Given the description of an element on the screen output the (x, y) to click on. 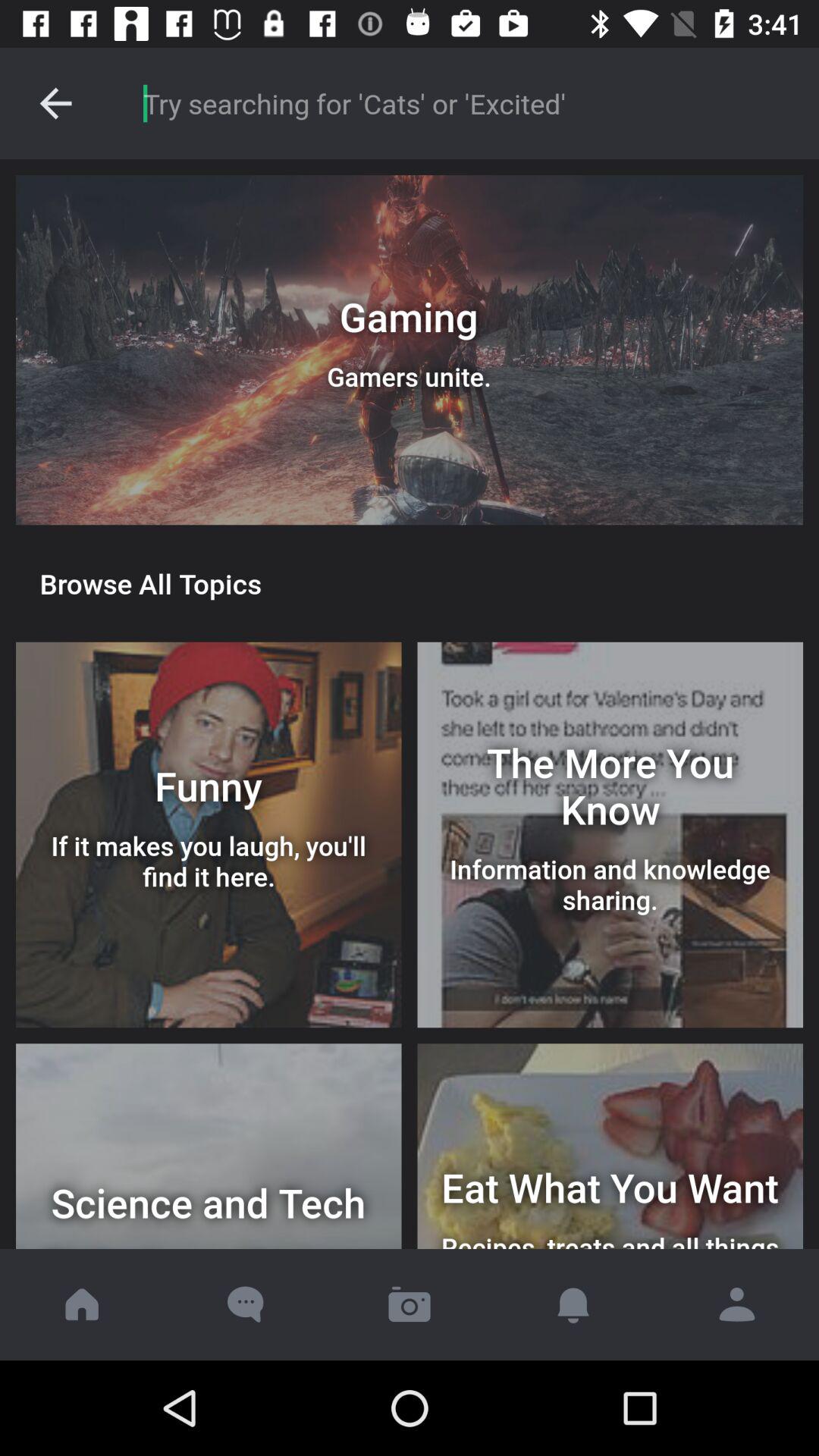
open the icon at the top left corner (55, 103)
